Given the description of an element on the screen output the (x, y) to click on. 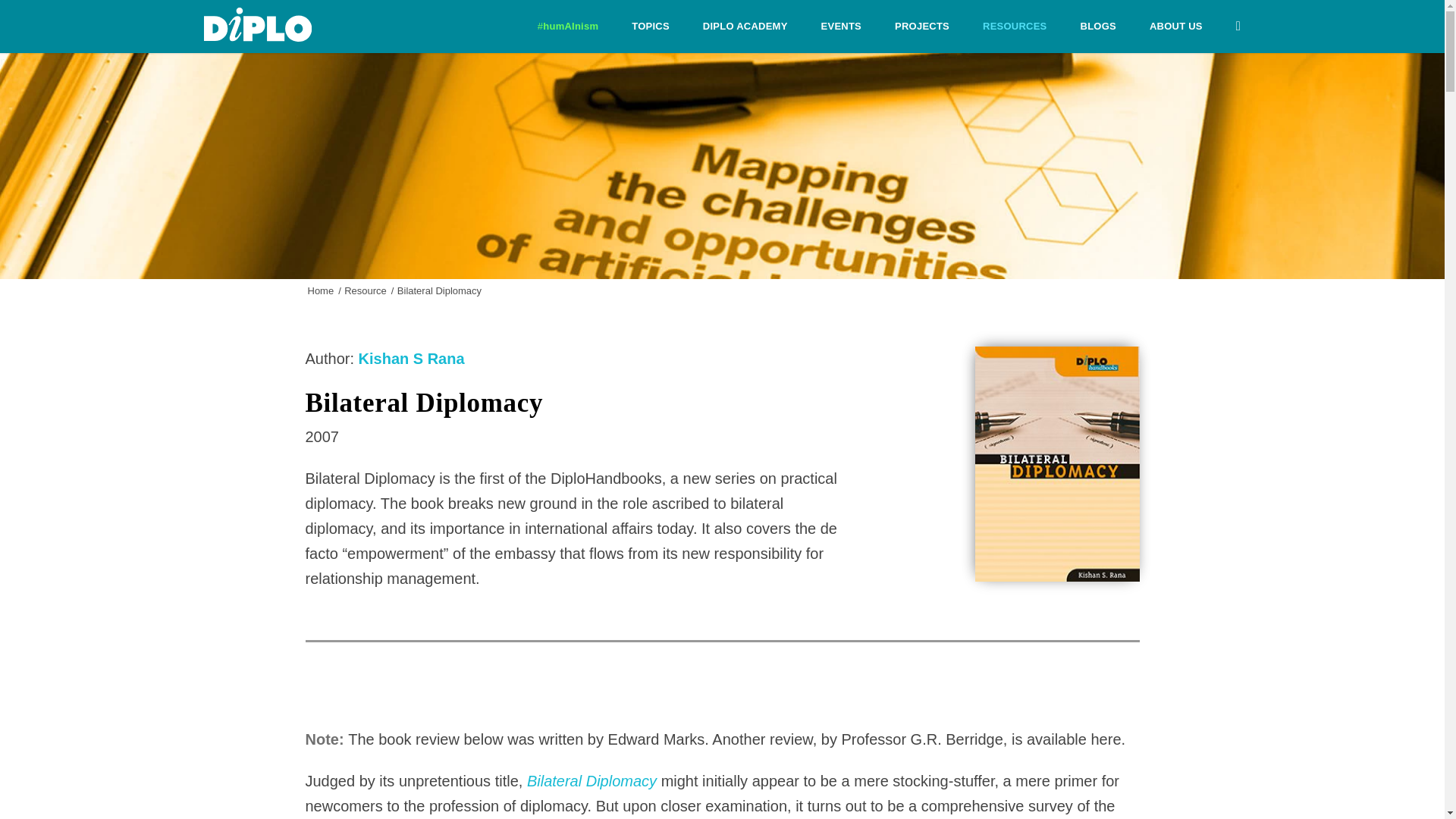
Diplo-logo.svg (257, 24)
Diplo-logo.svg (257, 24)
DIPLO ACADEMY (745, 26)
Bilateral Diplomacy (591, 781)
PROJECTS (922, 26)
